Given the description of an element on the screen output the (x, y) to click on. 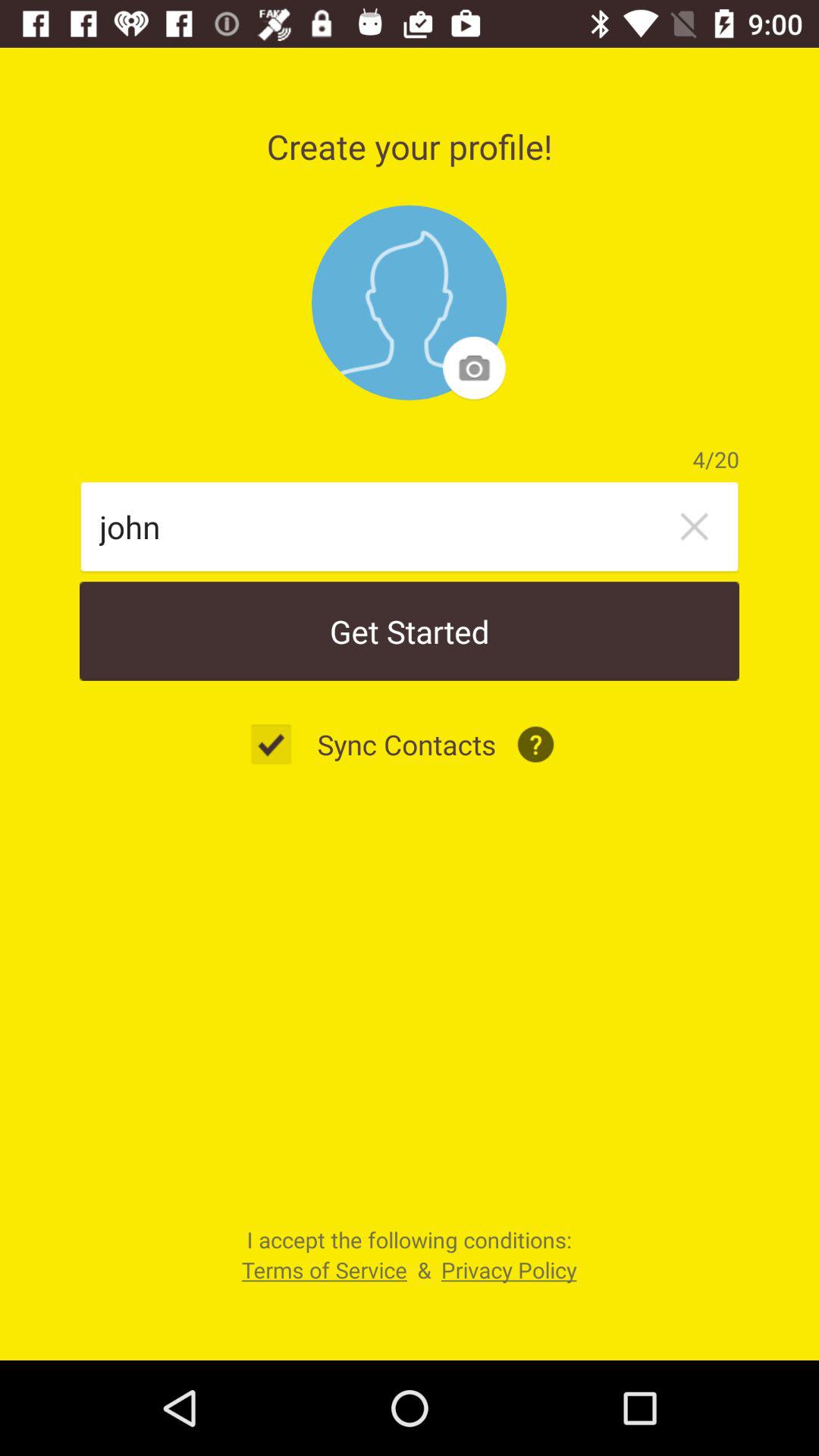
open the icon to the left of the sync contacts (279, 744)
